Given the description of an element on the screen output the (x, y) to click on. 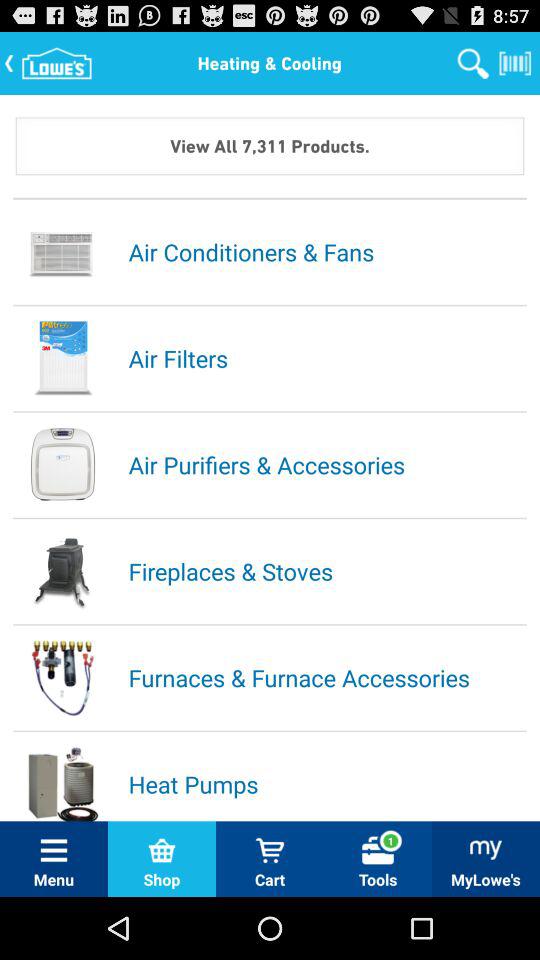
choose the air conditioners & fans app (326, 251)
